Given the description of an element on the screen output the (x, y) to click on. 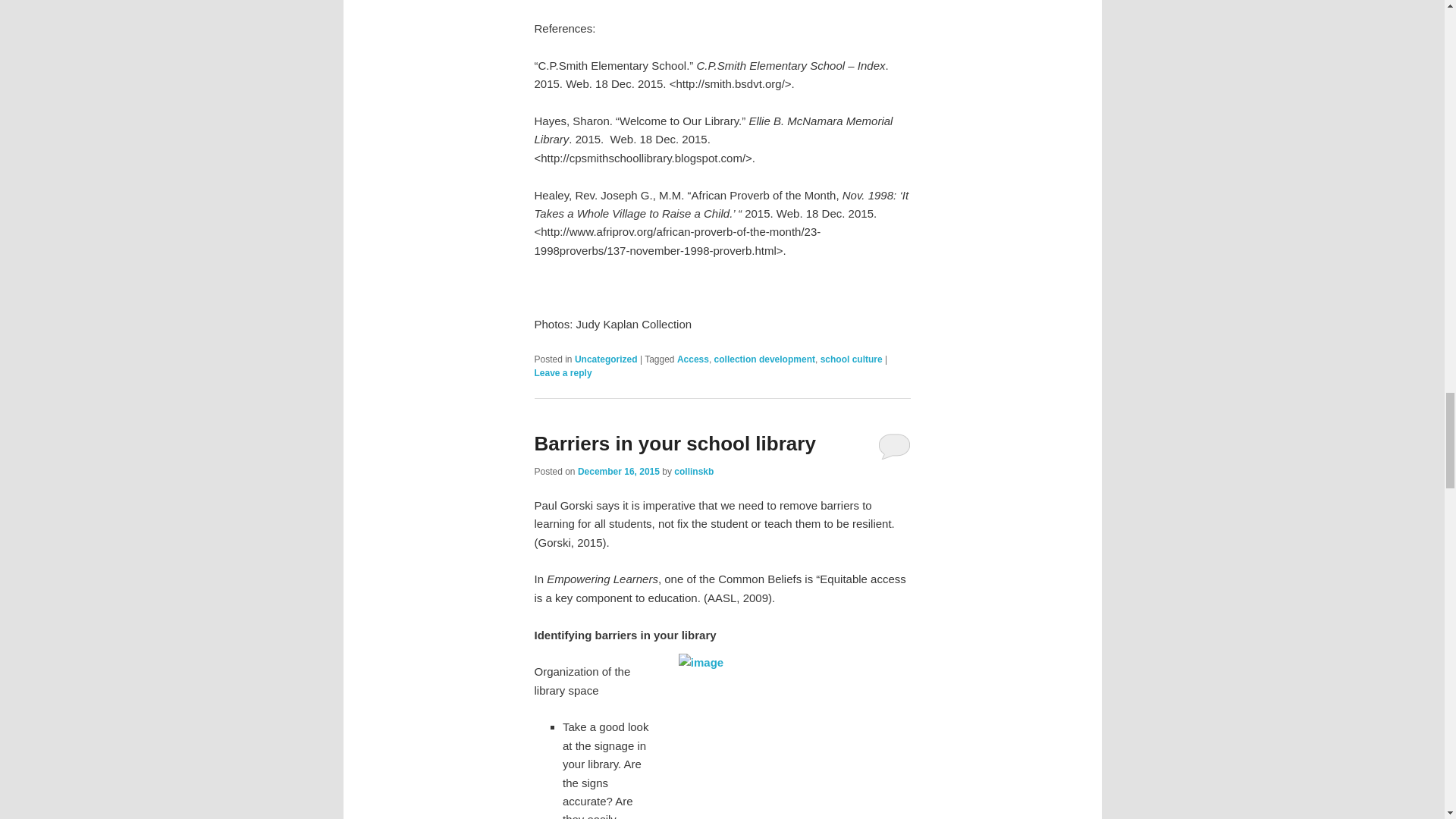
Permalink to Barriers in your school library (674, 443)
2:59 pm (618, 470)
View all posts by collinskb (693, 470)
